Given the description of an element on the screen output the (x, y) to click on. 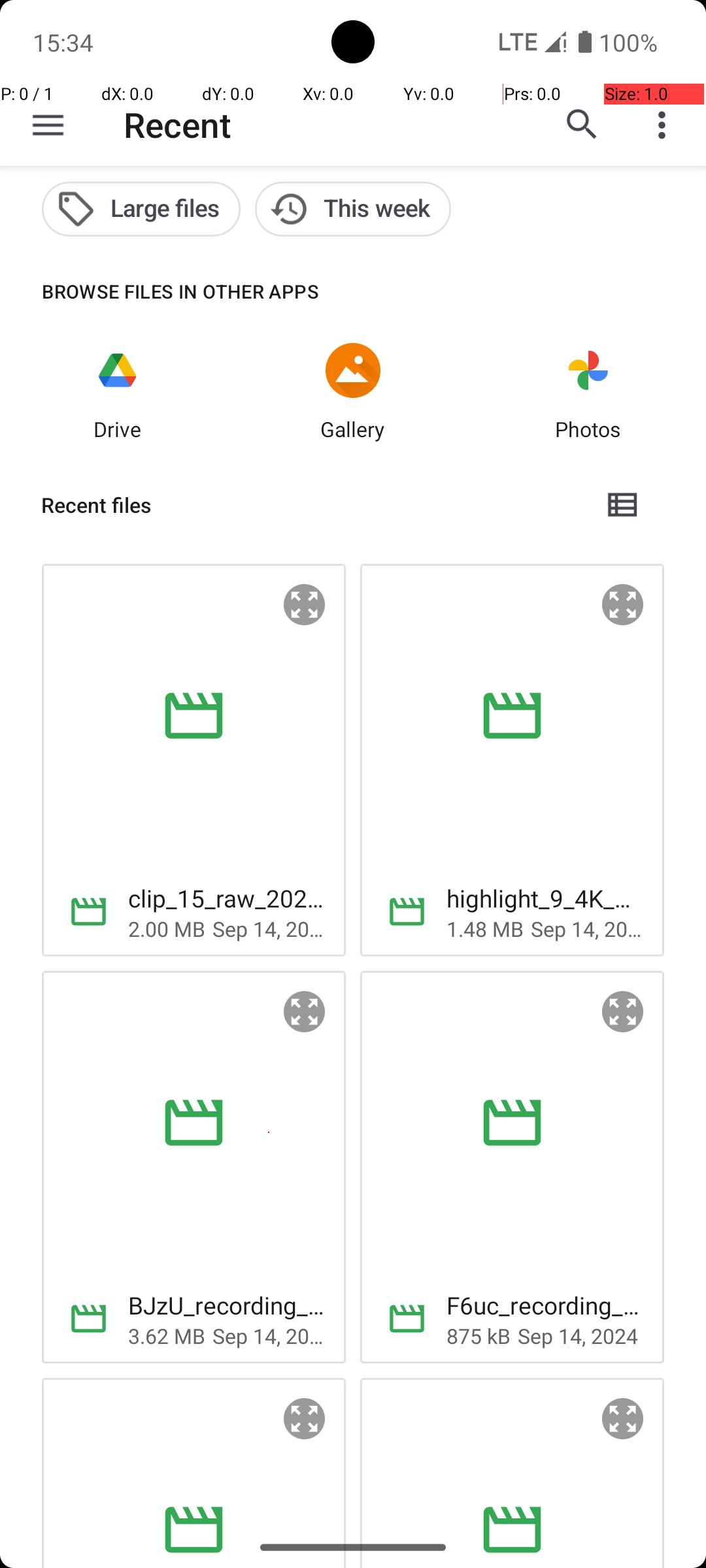
Preview the file clip_15_raw_2023_05_29.mp4 Element type: android.widget.FrameLayout (304, 604)
clip_15_raw_2023_05_29.mp4 Element type: android.widget.TextView (226, 897)
2.00 MB Element type: android.widget.TextView (166, 928)
Sep 14, 2024 Element type: android.widget.TextView (268, 928)
Preview the file highlight_9_4K_UsMM.mp4 Element type: android.widget.FrameLayout (622, 604)
highlight_9_4K_UsMM.mp4 Element type: android.widget.TextView (544, 897)
1.48 MB Element type: android.widget.TextView (484, 928)
Preview the file BJzU_recording_19_4K.mp4 Element type: android.widget.FrameLayout (304, 1011)
BJzU_recording_19_4K.mp4 Element type: android.widget.TextView (226, 1304)
3.62 MB Element type: android.widget.TextView (166, 1335)
Preview the file F6uc_recording_24_HD.mp4 Element type: android.widget.FrameLayout (622, 1011)
F6uc_recording_24_HD.mp4 Element type: android.widget.TextView (544, 1304)
875 kB Element type: android.widget.TextView (478, 1335)
Preview the file edited_moment_99_export.mp4 Element type: android.widget.FrameLayout (304, 1418)
Preview the file VncS_scene_69_.mp4 Element type: android.widget.FrameLayout (622, 1418)
